Given the description of an element on the screen output the (x, y) to click on. 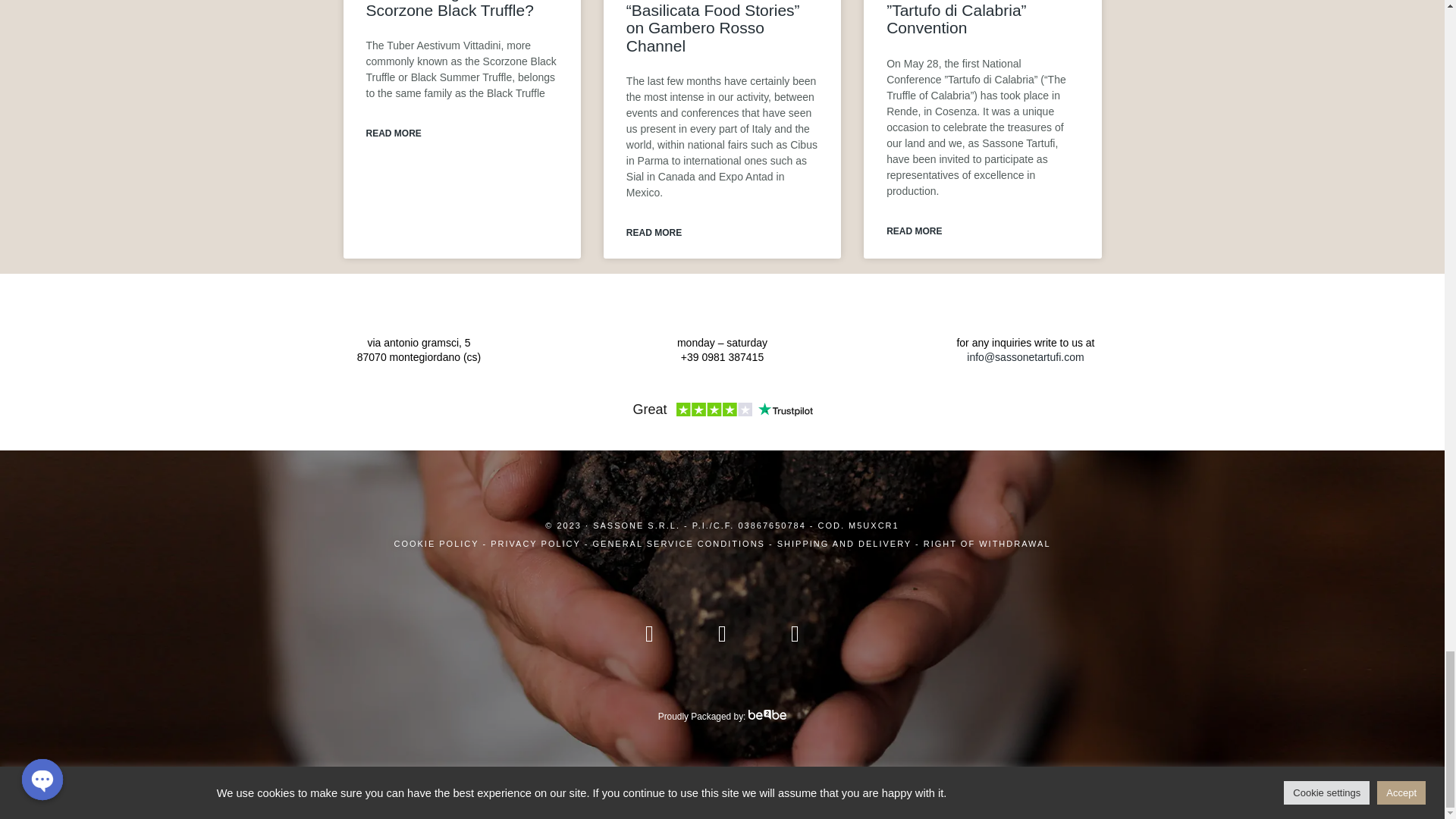
Customer reviews powered by Trustpilot (721, 411)
